Given the description of an element on the screen output the (x, y) to click on. 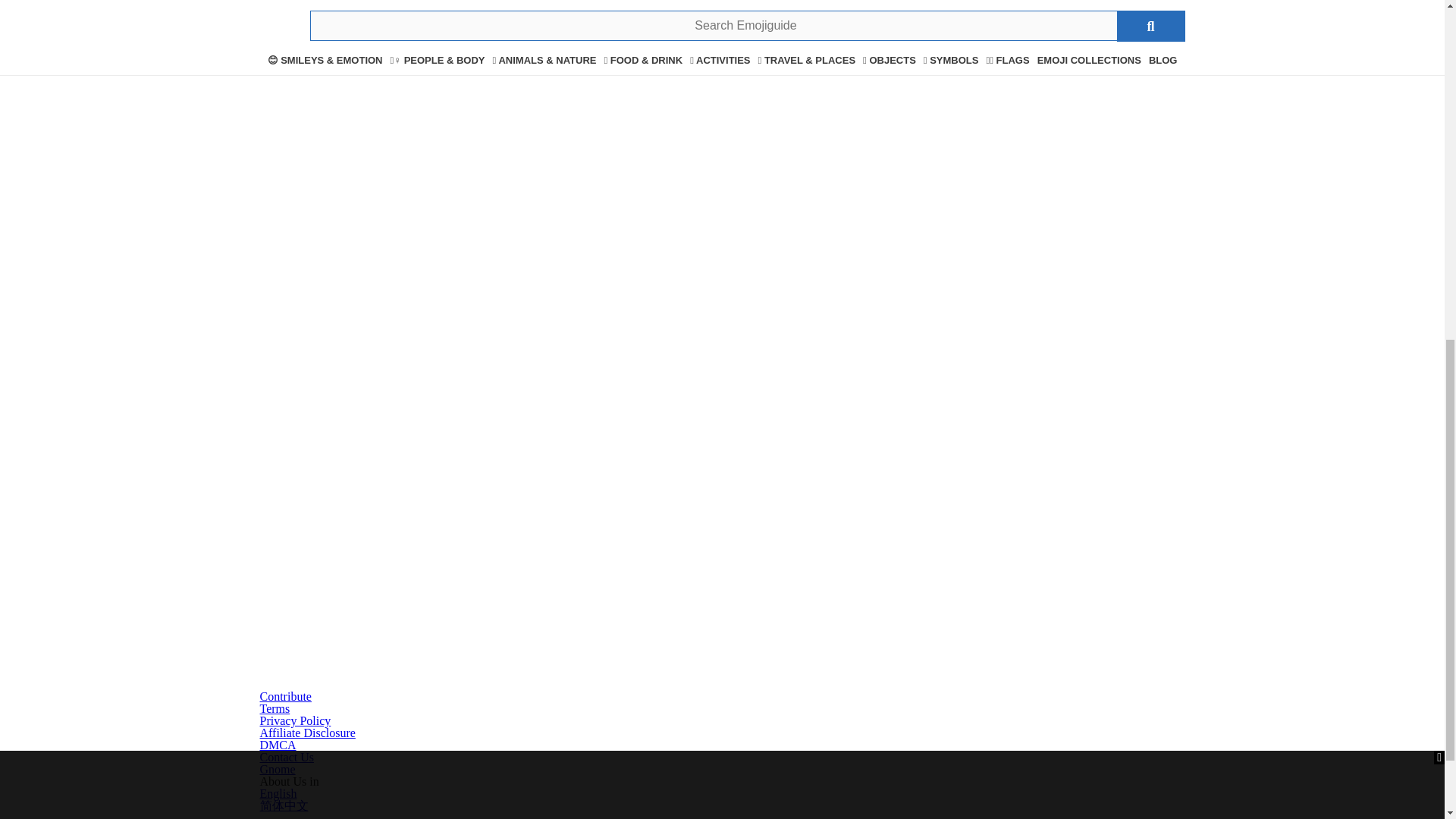
Contribute (285, 696)
English (278, 793)
logo-footer (722, 226)
Contact Us (286, 757)
Terms (274, 707)
Privacy Policy (294, 720)
Affiliate Disclosure (307, 732)
Gnome (277, 768)
DMCA (277, 744)
